Given the description of an element on the screen output the (x, y) to click on. 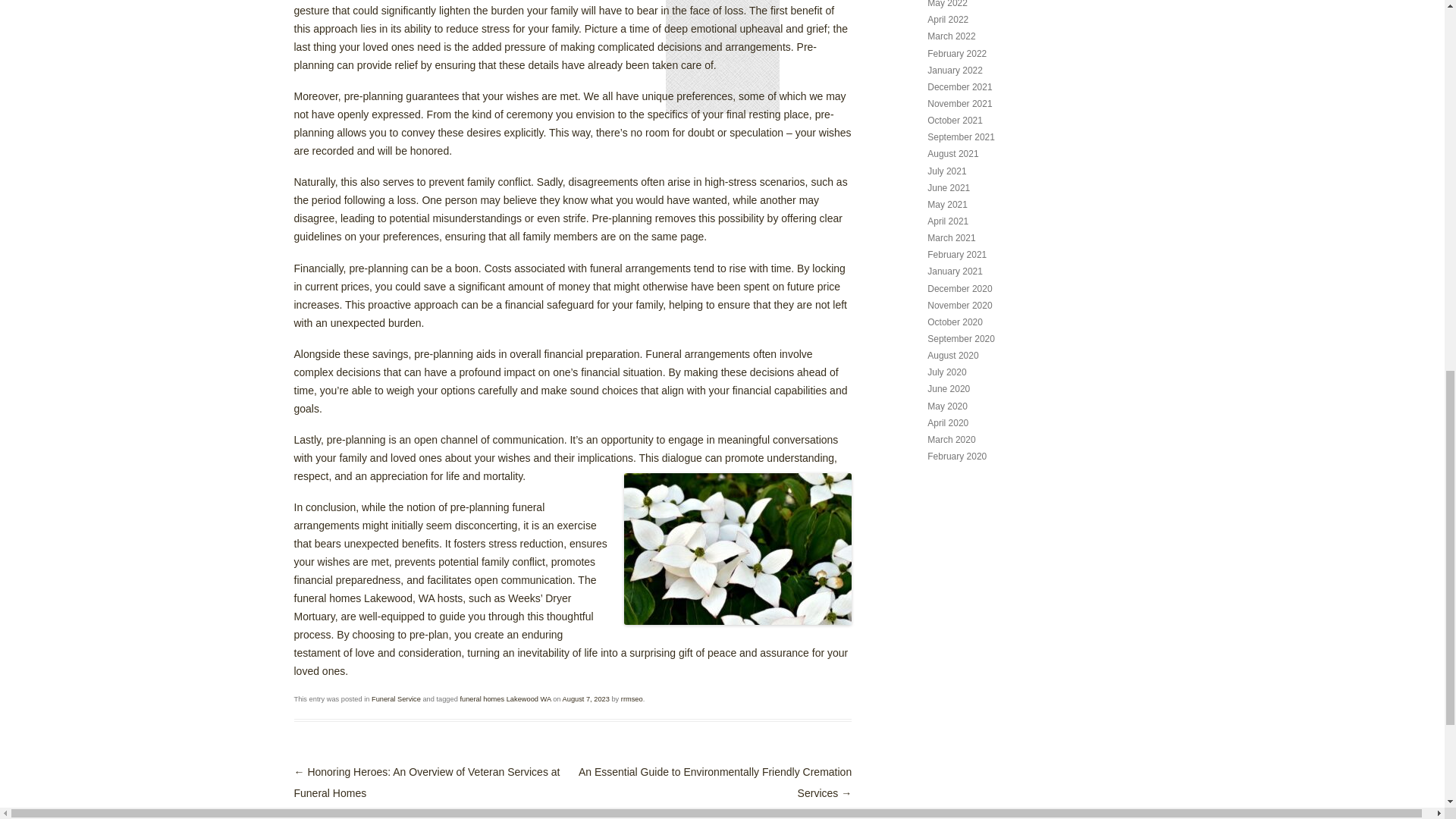
View all posts by rrmseo (632, 698)
11:34 am (586, 698)
